Given the description of an element on the screen output the (x, y) to click on. 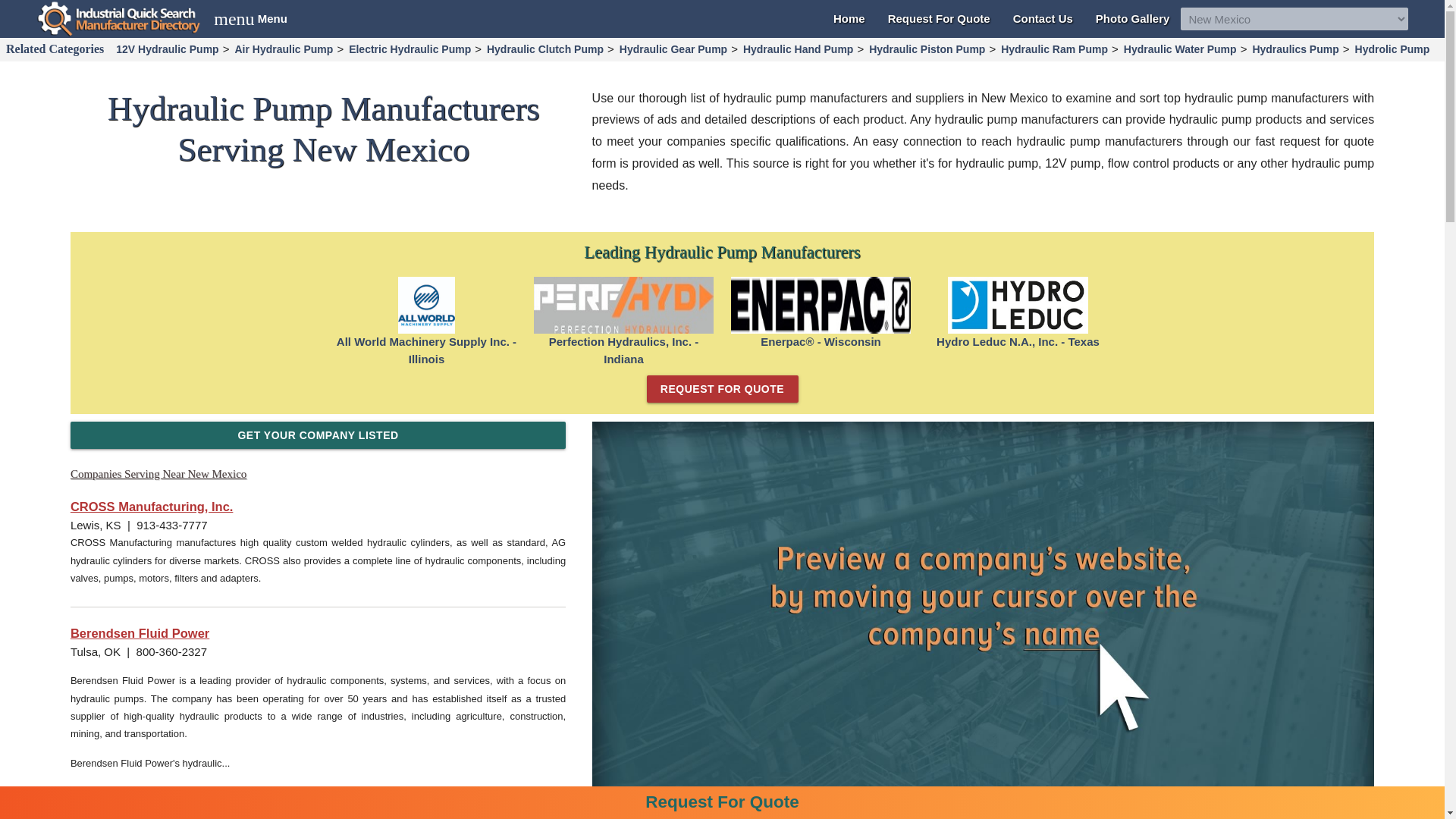
Hydraulic Hand Pump (798, 48)
12V Hydraulic Pump (167, 48)
Hydraulic Piston Pump (926, 48)
Hydro Leduc N.A., Inc. Logo (1018, 304)
Hydraulic Clutch Pump (545, 48)
Home (849, 18)
Electric Hydraulic Pump (409, 48)
Perfection Hydraulics, Inc. Logo (624, 304)
Request For Quote (938, 18)
Hydraulic Gear Pump (672, 48)
